Given the description of an element on the screen output the (x, y) to click on. 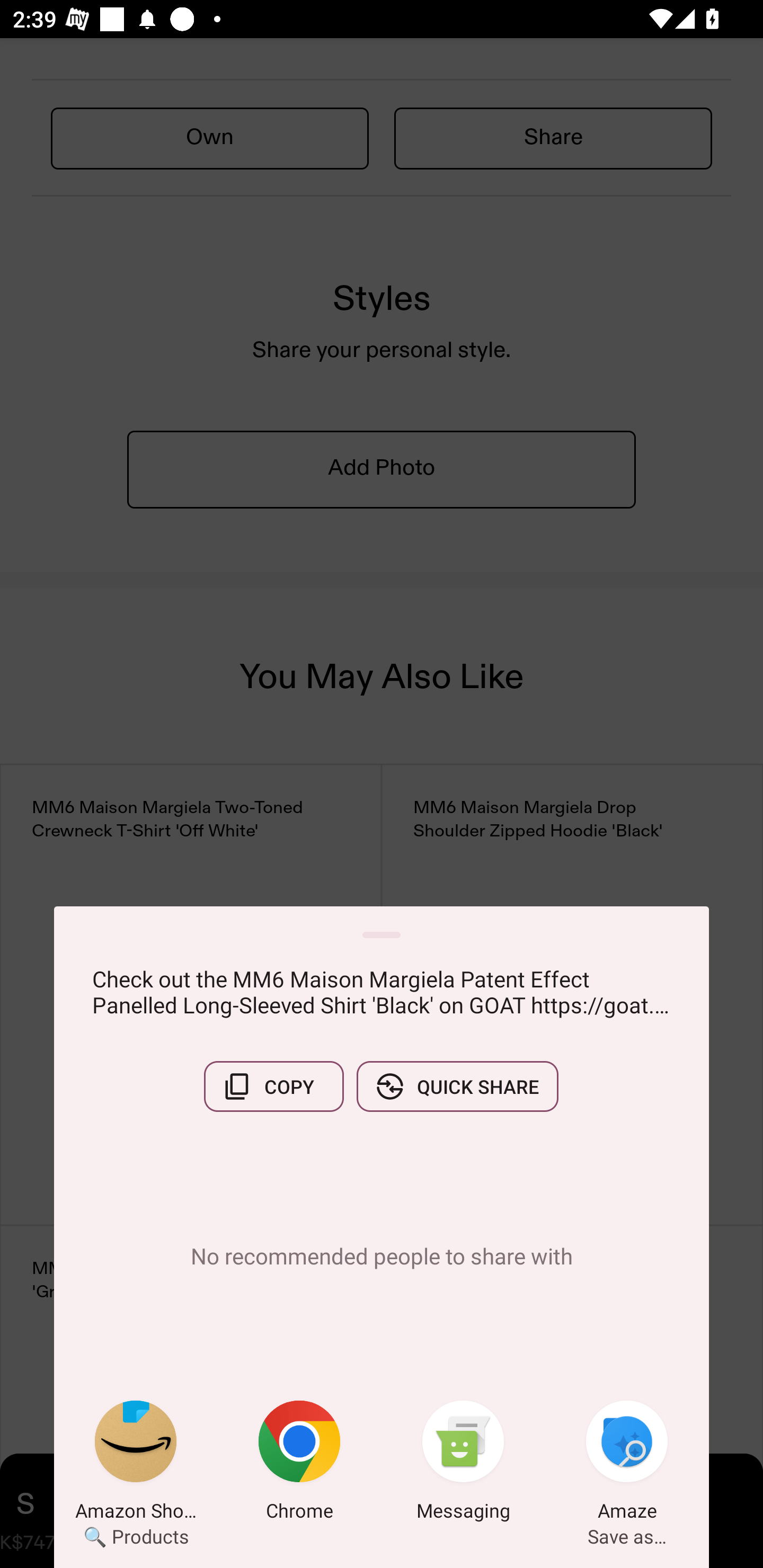
COPY (273, 1086)
QUICK SHARE (457, 1086)
Amazon Shopping 🔍 Products (135, 1463)
Chrome (299, 1463)
Messaging (463, 1463)
Amaze Save as… (626, 1463)
